Given the description of an element on the screen output the (x, y) to click on. 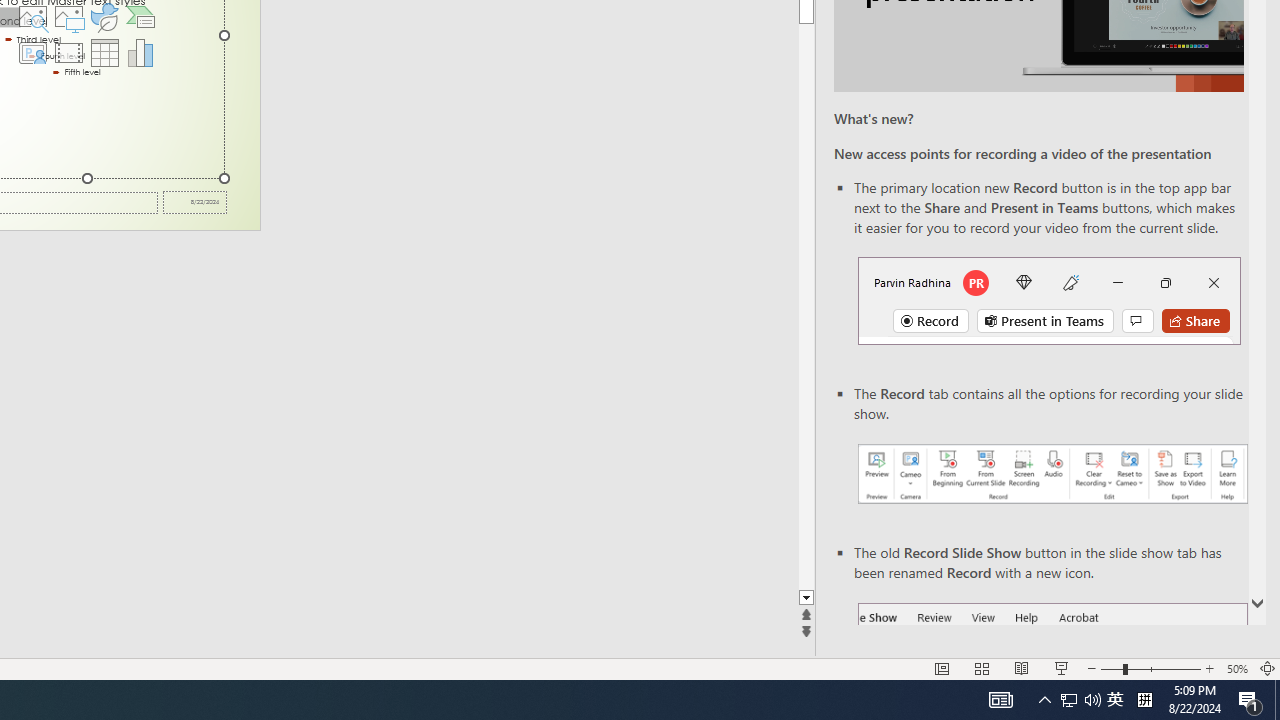
Insert Chart (141, 52)
Zoom In (1209, 668)
Slide Sorter (982, 668)
Zoom Out (1111, 668)
Line down (806, 597)
Zoom 50% (1236, 668)
Record button in top bar (1049, 300)
Zoom (1150, 668)
